Given the description of an element on the screen output the (x, y) to click on. 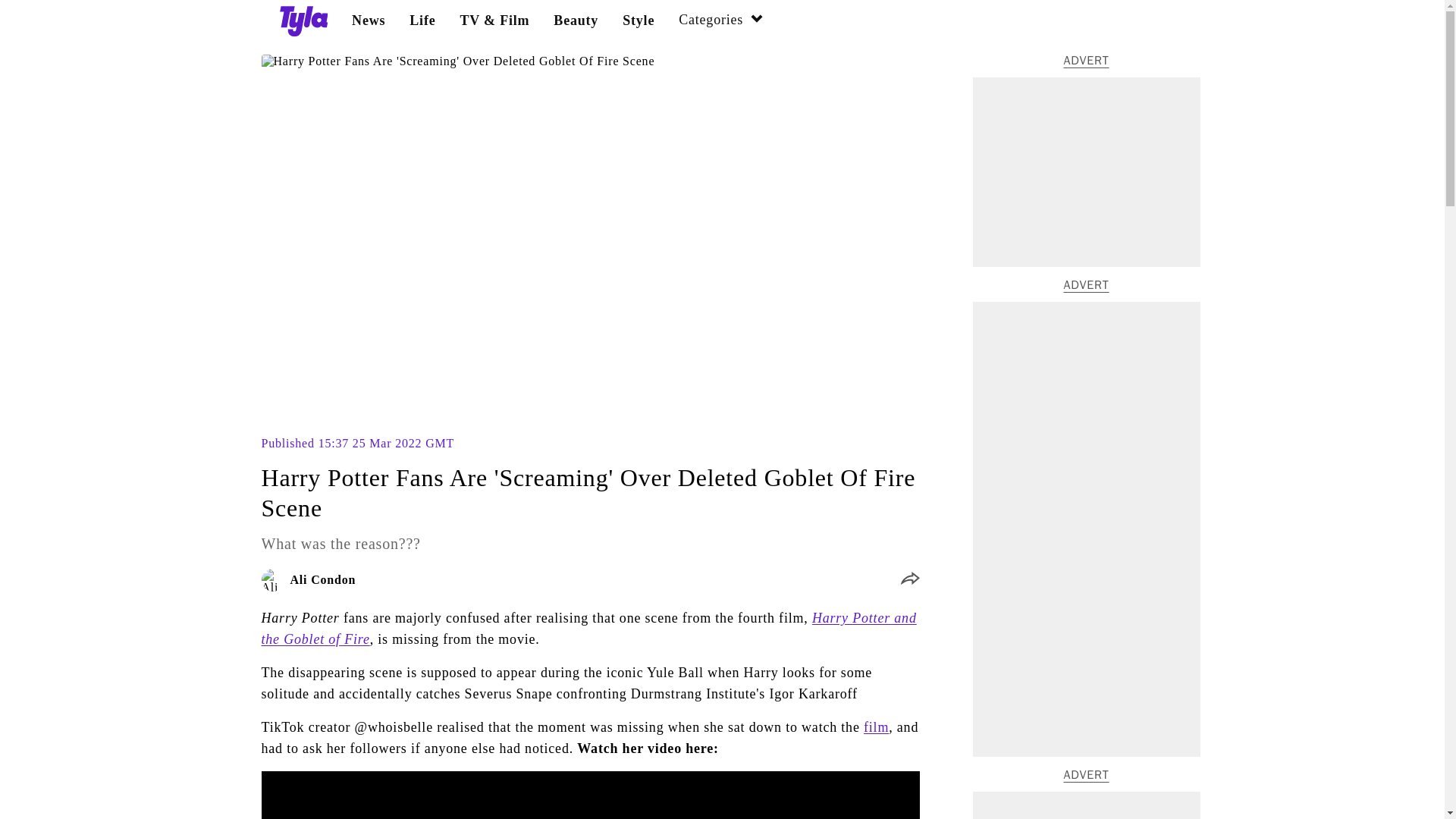
Life (422, 20)
Style (638, 20)
Categories (721, 21)
Beauty (575, 20)
News (368, 20)
